Given the description of an element on the screen output the (x, y) to click on. 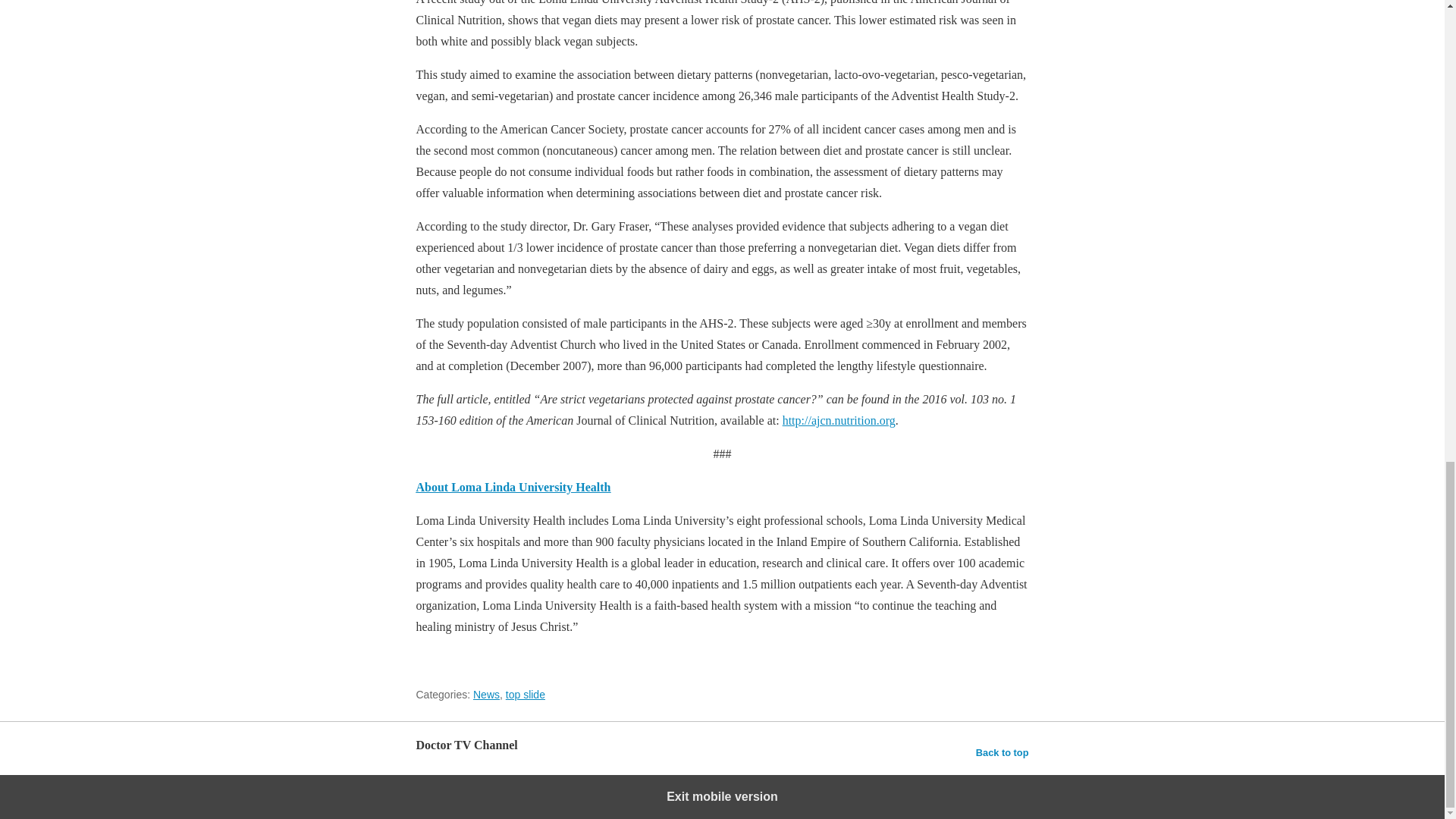
Back to top (1002, 752)
News (486, 694)
About Loma Linda University Health (512, 486)
top slide (524, 694)
